Given the description of an element on the screen output the (x, y) to click on. 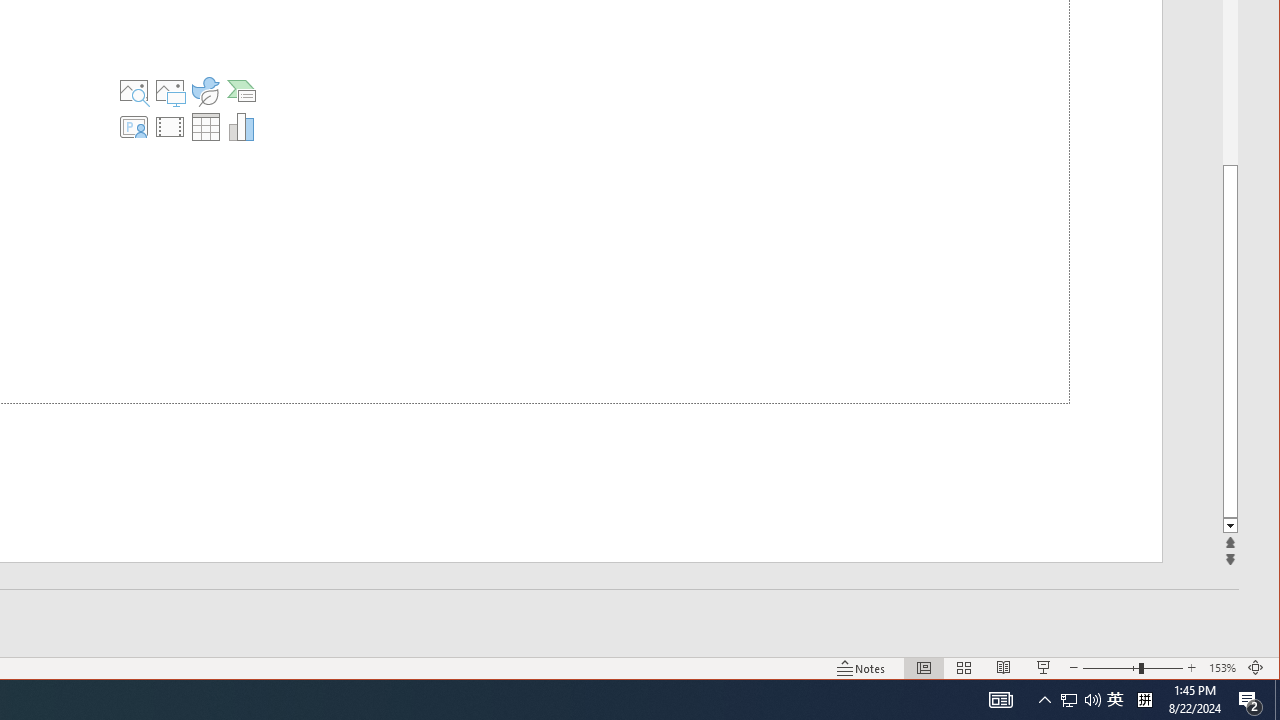
Insert Cameo (133, 126)
Insert Chart (242, 126)
Stock Images (133, 90)
Insert Video (169, 126)
